Given the description of an element on the screen output the (x, y) to click on. 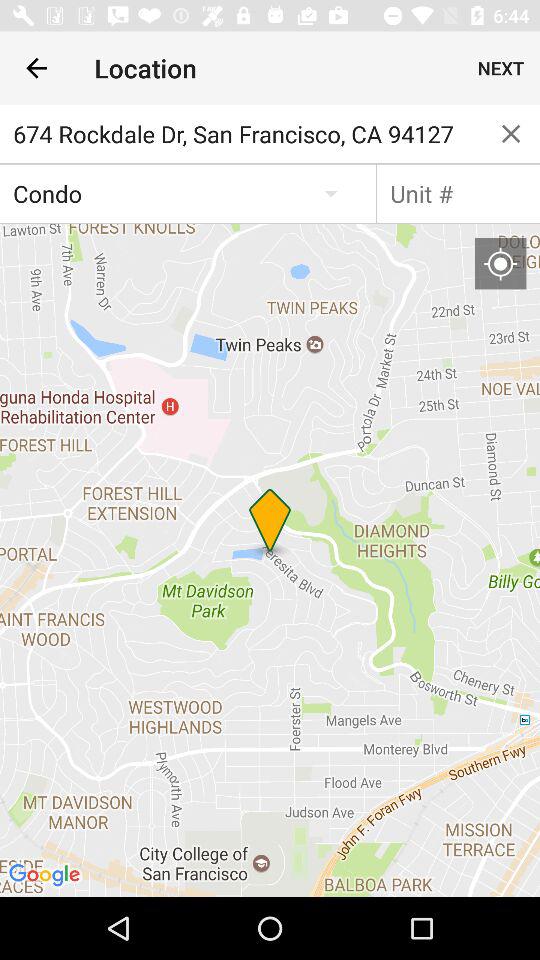
enter unit number (458, 193)
